Given the description of an element on the screen output the (x, y) to click on. 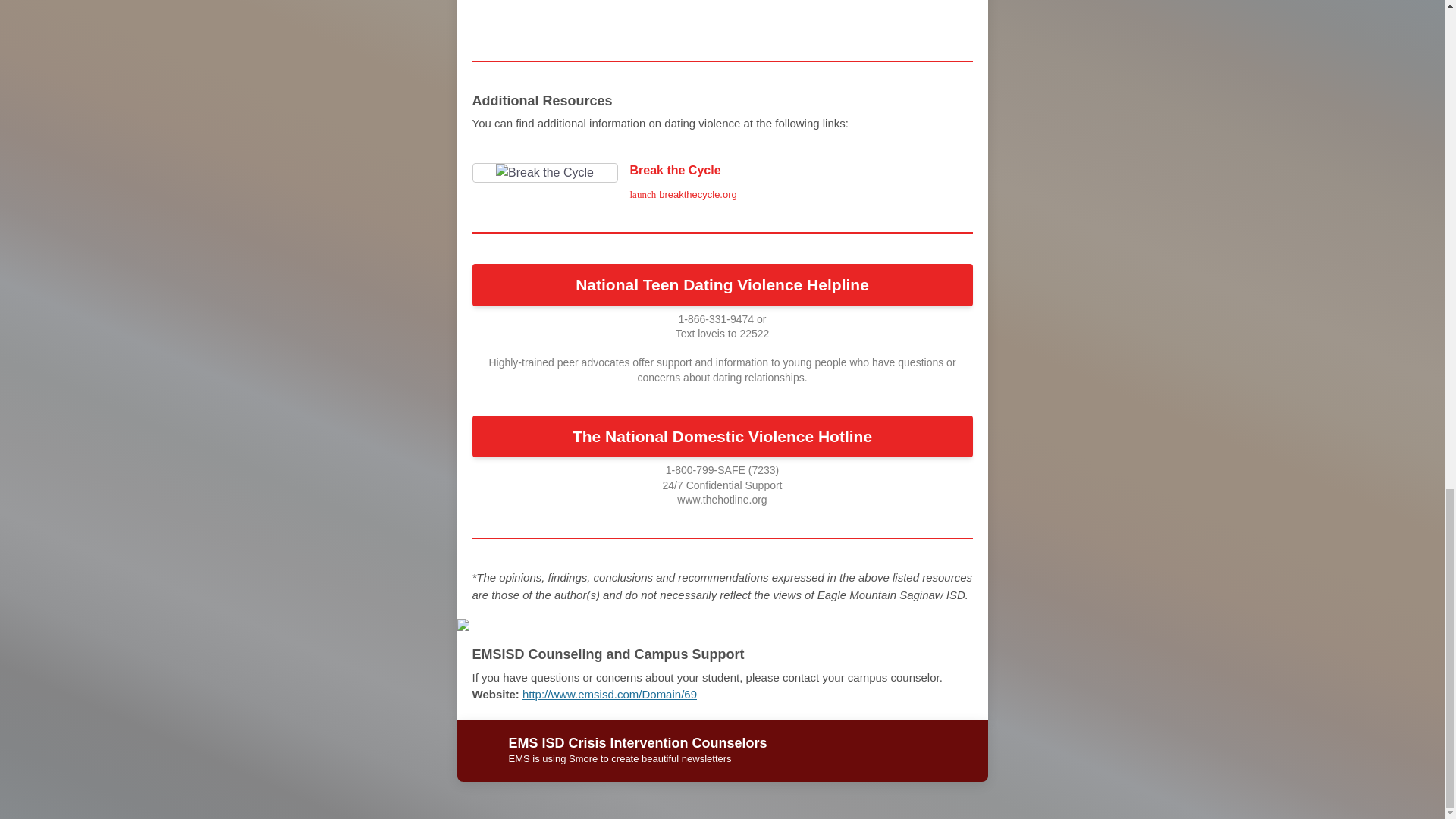
Healthy (505, 18)
National Teen Dating Violence Helpline (721, 284)
The National Domestic Violence Hotline (721, 182)
